Given the description of an element on the screen output the (x, y) to click on. 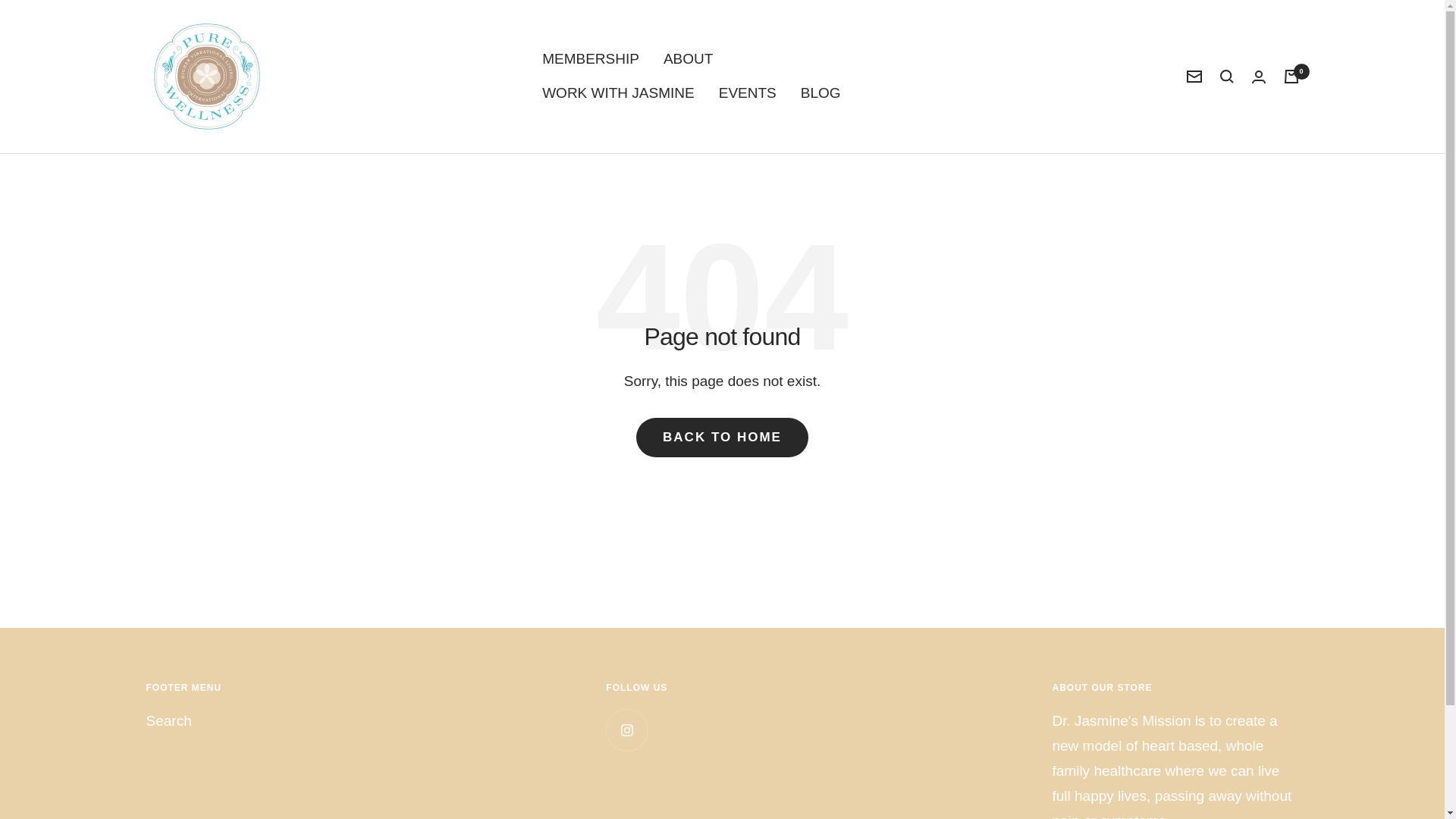
0 (1291, 76)
AW (304, 809)
AR (304, 761)
Pure Wellness Love (205, 76)
AD (304, 668)
AO (304, 691)
AG (304, 738)
DZ (304, 644)
AX (304, 597)
MEMBERSHIP (590, 59)
